Given the description of an element on the screen output the (x, y) to click on. 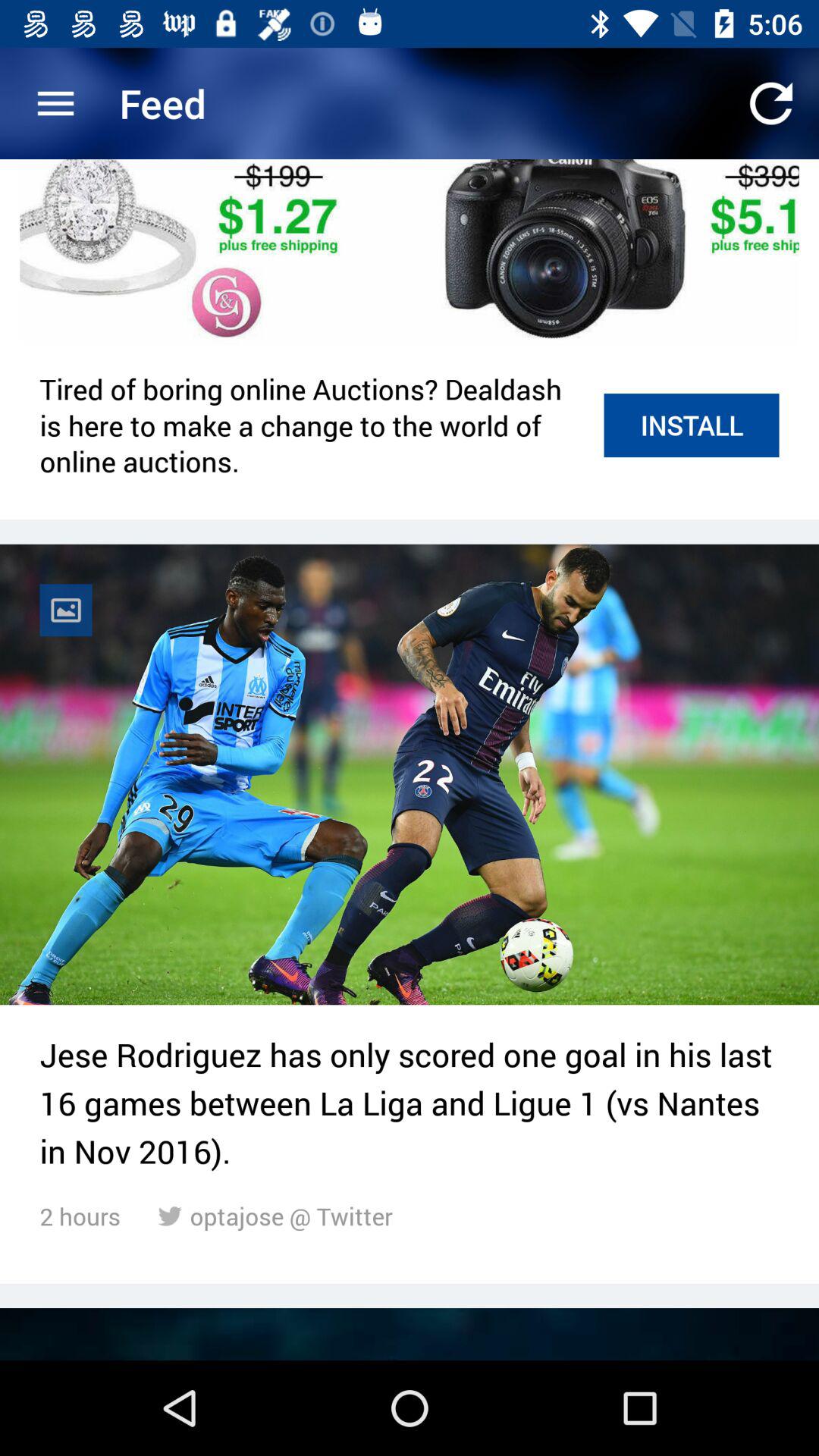
choose the icon to the left of the feed item (55, 103)
